Given the description of an element on the screen output the (x, y) to click on. 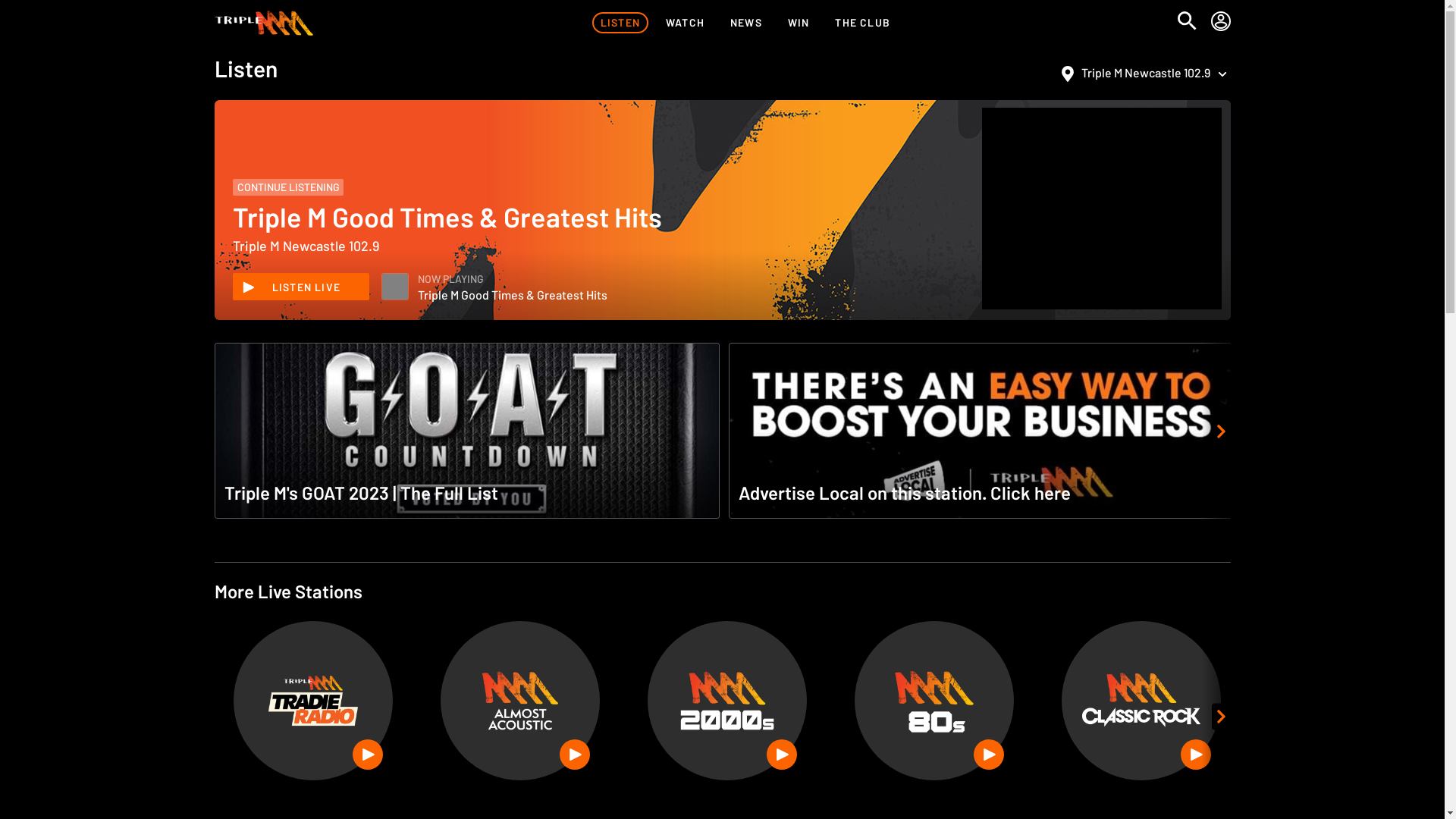
WATCH Element type: text (684, 22)
3rd party ad content Element type: hover (1100, 208)
LISTEN LIVE Element type: text (300, 286)
THE CLUB Element type: text (862, 22)
Triple M Good Times & Greatest Hits Element type: hover (394, 287)
NEWS Element type: text (745, 22)
Advertise Local on this station. Click here Element type: text (980, 431)
Triple M 80s Element type: hover (933, 700)
WIN Element type: text (798, 22)
Triple M's GOAT 2023 | The Full List Element type: text (466, 431)
Triple M Tradie Radio Element type: hover (312, 700)
Triple M Almost Acoustic Element type: hover (519, 700)
Triple M 2000s Element type: hover (726, 700)
Triple M Classic Rock Element type: hover (1140, 700)
Triple M Element type: hover (263, 22)
LISTEN Element type: text (620, 22)
